Given the description of an element on the screen output the (x, y) to click on. 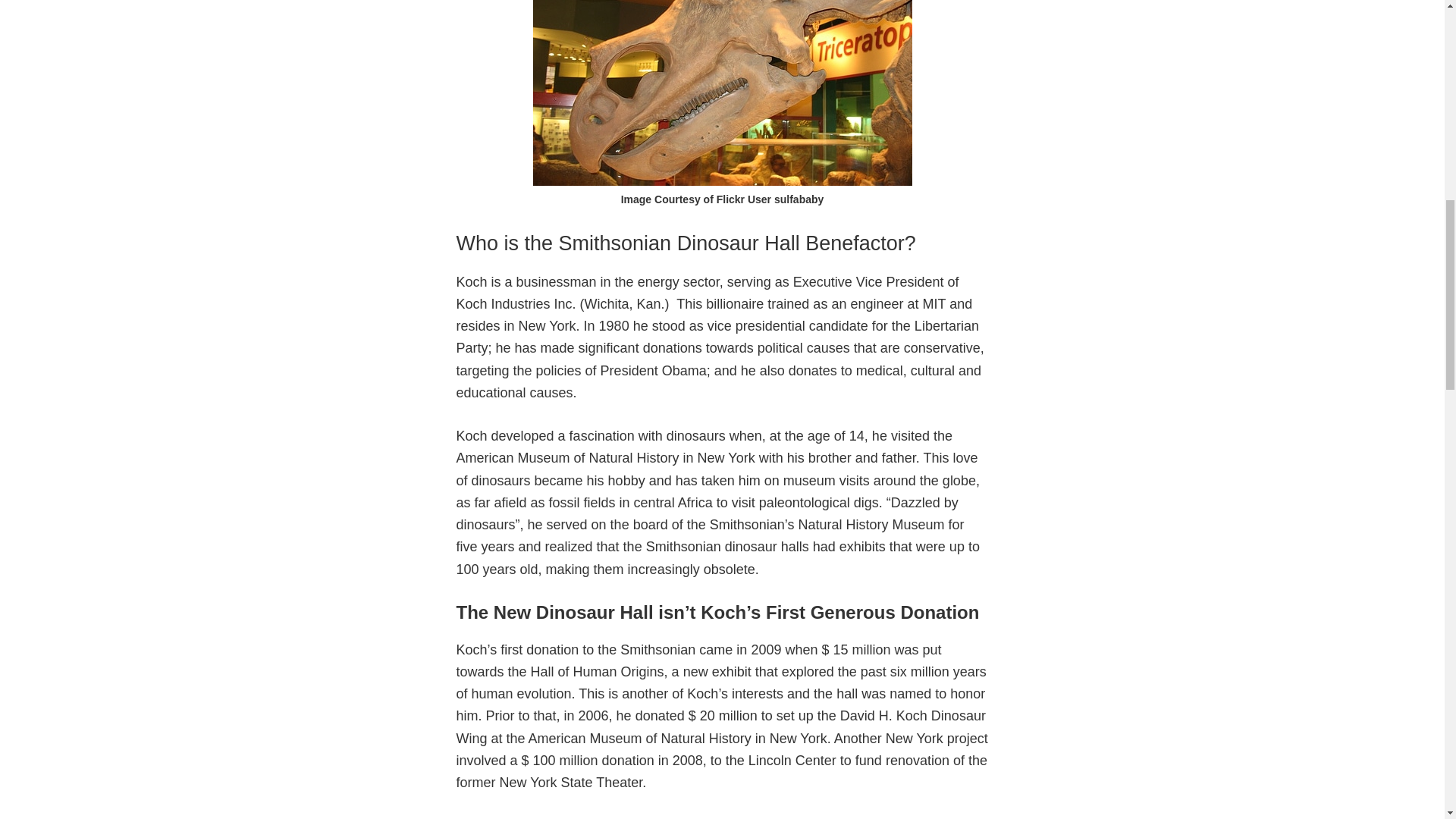
Smithsonian Dinosaur Hall (721, 92)
